Given the description of an element on the screen output the (x, y) to click on. 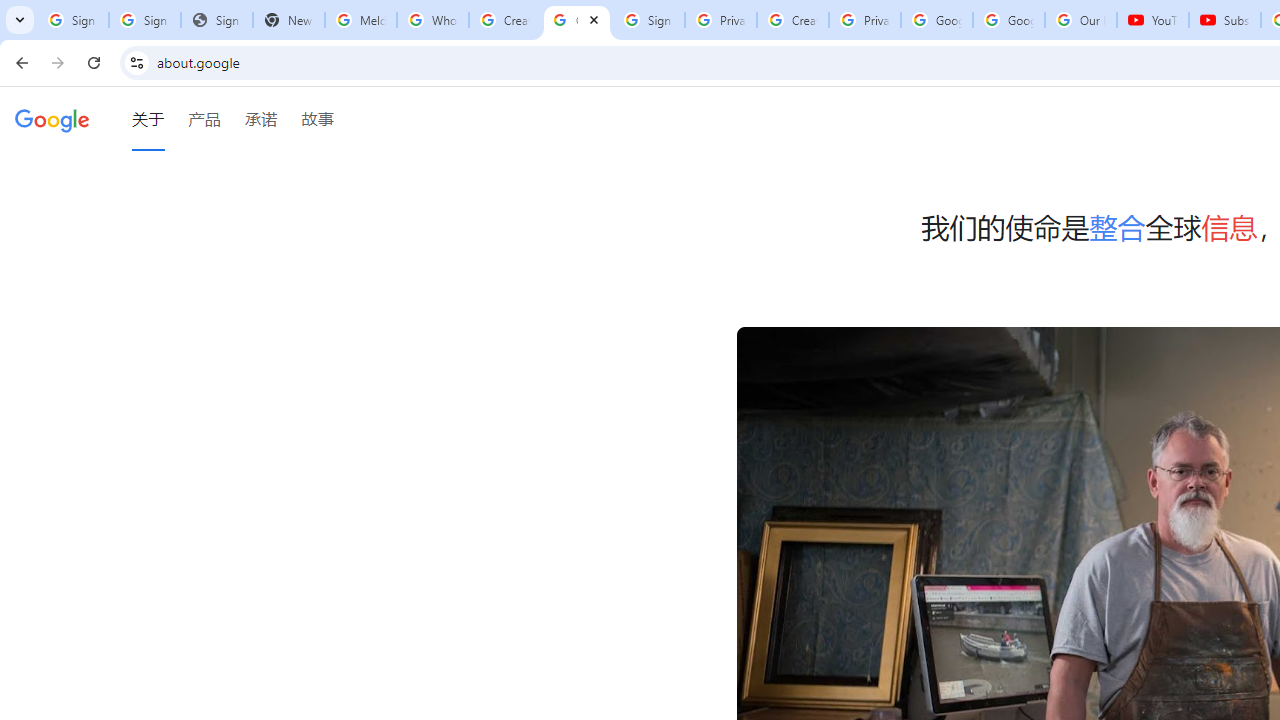
Google (52, 119)
Google Account (1008, 20)
Sign in - Google Accounts (144, 20)
Who is my administrator? - Google Account Help (432, 20)
Subscriptions - YouTube (1224, 20)
New Tab (289, 20)
Sign in - Google Accounts (648, 20)
Create your Google Account (504, 20)
Sign In - USA TODAY (216, 20)
